Given the description of an element on the screen output the (x, y) to click on. 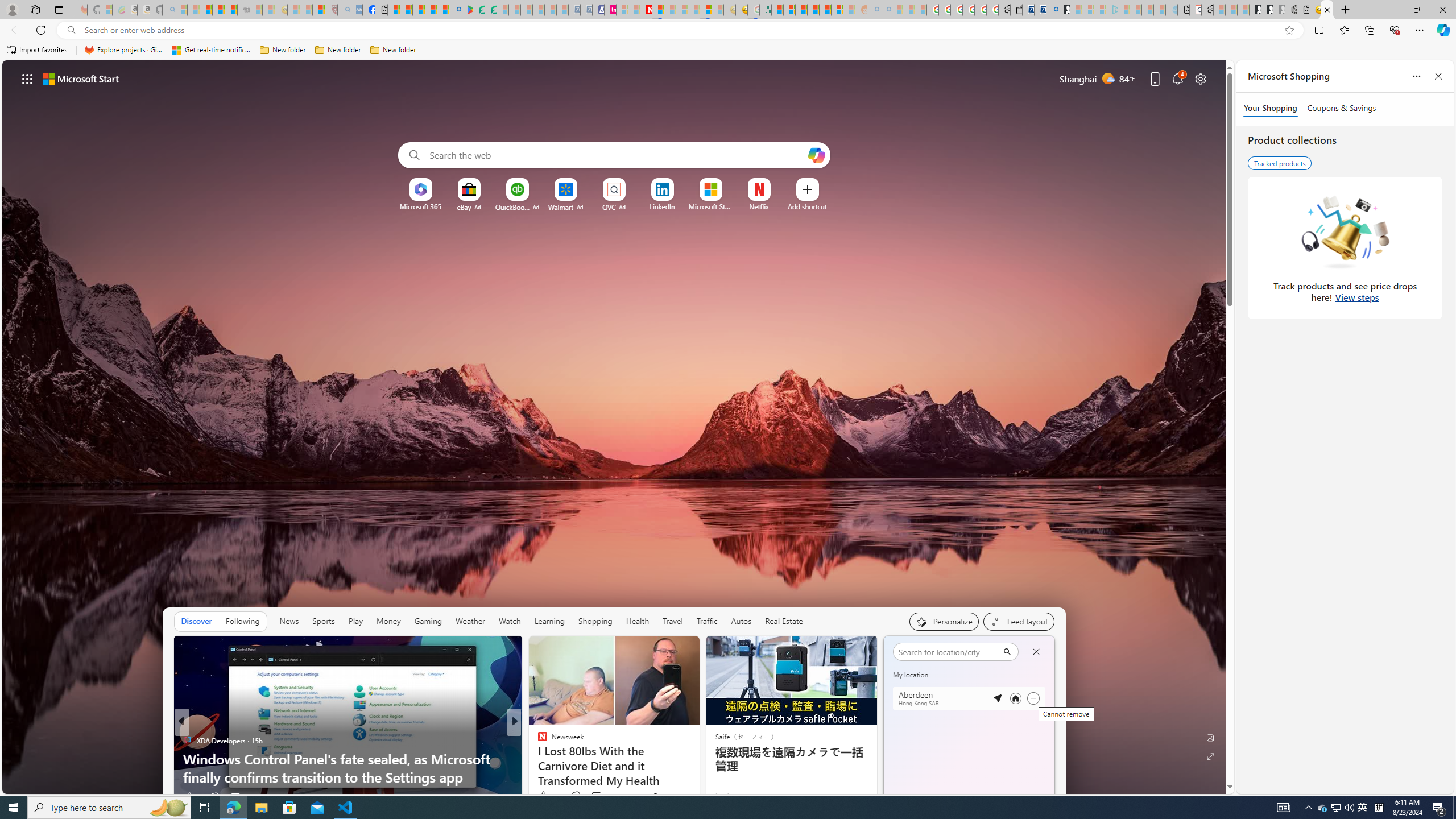
Daily (942, 703)
New Report Confirms 2023 Was Record Hot | Watch (230, 9)
The Weather Channel - MSN (205, 9)
Set as your primary location (1015, 698)
